Given the description of an element on the screen output the (x, y) to click on. 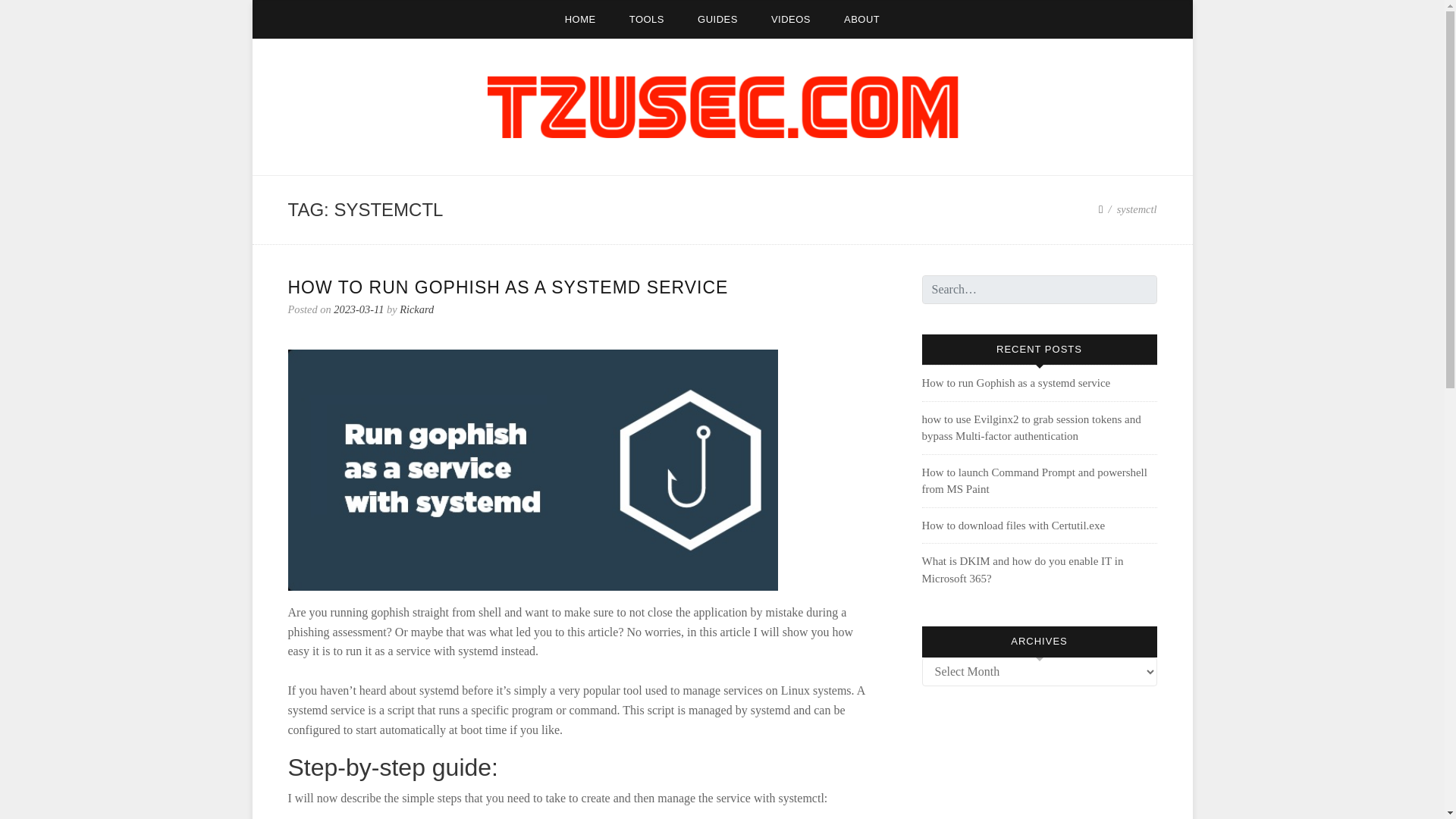
GUIDES (717, 19)
Rickard (415, 309)
2023-03-11 (358, 309)
HOW TO RUN GOPHISH AS A SYSTEMD SERVICE (508, 287)
VIDEOS (790, 19)
ABOUT (861, 19)
TZUSEC.COM (355, 163)
HOME (580, 19)
TOOLS (646, 19)
